Given the description of an element on the screen output the (x, y) to click on. 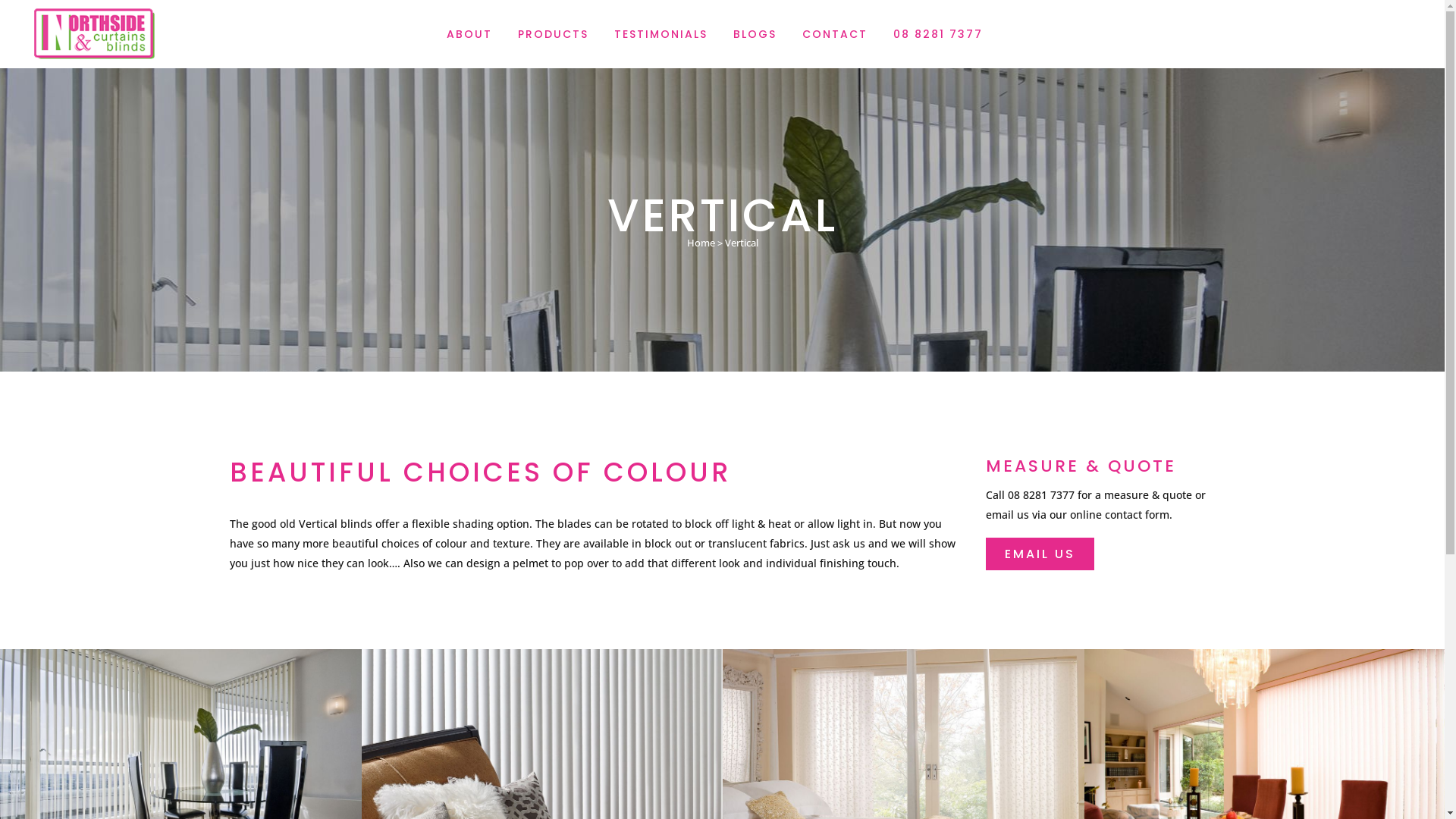
PRODUCTS Element type: text (553, 34)
ABOUT Element type: text (469, 34)
Home Element type: text (701, 241)
EMAIL US Element type: text (1039, 553)
CONTACT Element type: text (833, 34)
BLOGS Element type: text (754, 34)
08 8281 7377 Element type: text (936, 34)
TESTIMONIALS Element type: text (659, 34)
